Given the description of an element on the screen output the (x, y) to click on. 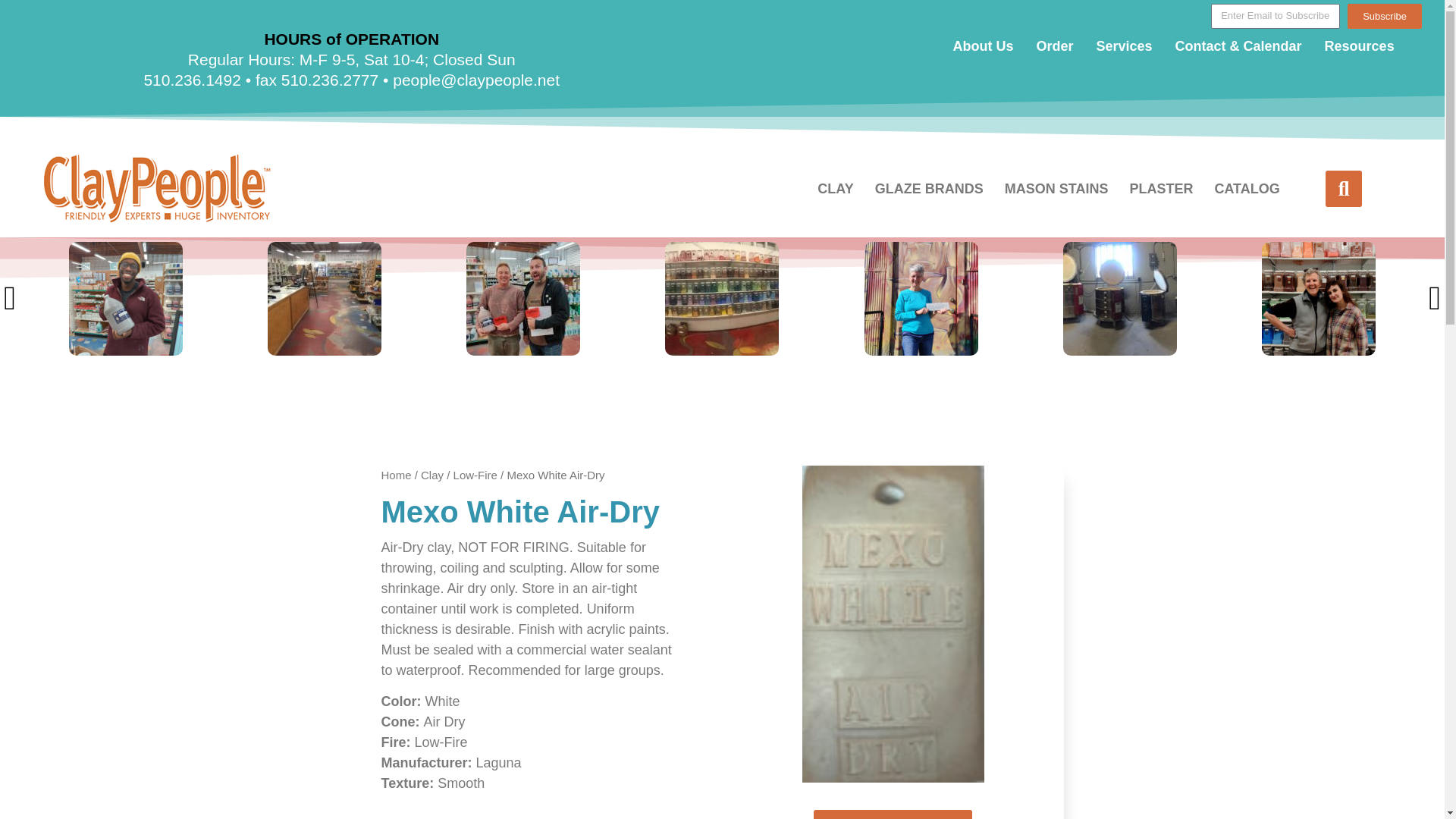
About Us (982, 45)
Services (1123, 45)
MASON STAINS (1056, 188)
Resources (1359, 45)
Order (1054, 45)
GLAZE BRANDS (929, 188)
Subscribe (1385, 16)
CLAY (834, 188)
